Given the description of an element on the screen output the (x, y) to click on. 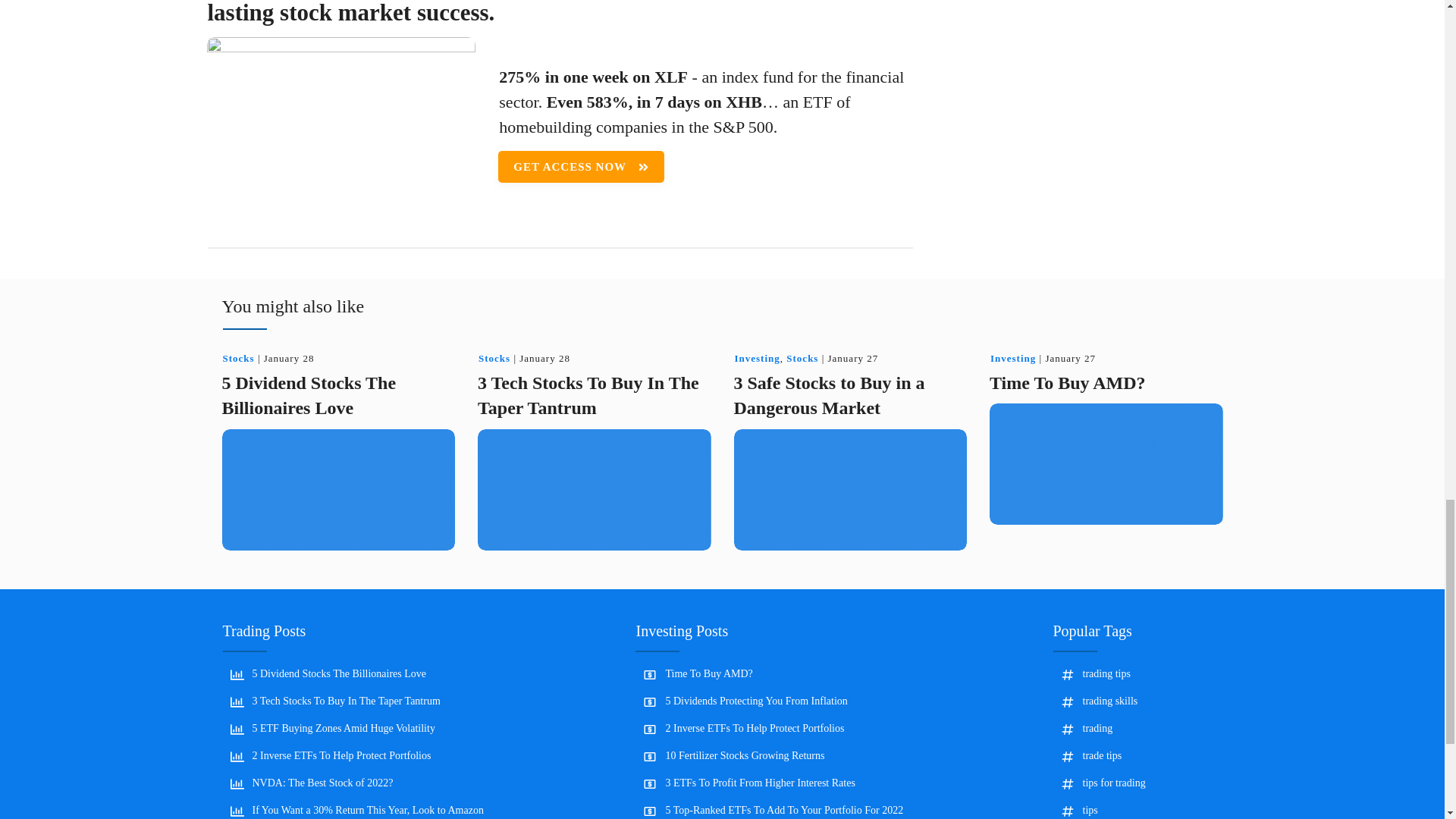
Stocks (238, 357)
GET ACCESS NOW (580, 166)
5 Dividend Stocks The Billionaires Love (308, 395)
Stocks (238, 357)
Stocks (495, 357)
5 Dividend Stocks The Billionaires Love (308, 395)
7b3893e6cab3311ee3e8cc9adc74250e (341, 126)
